Given the description of an element on the screen output the (x, y) to click on. 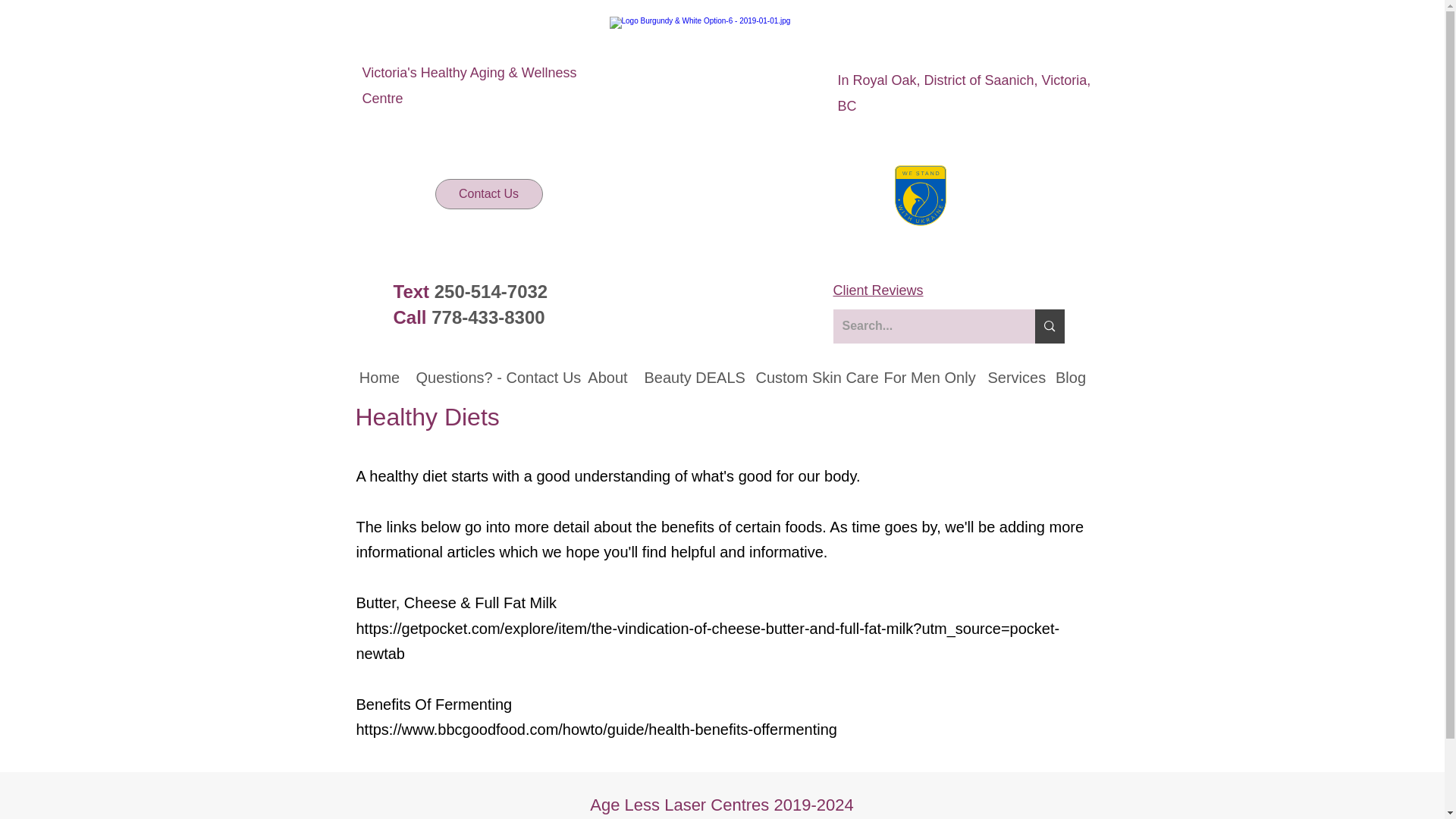
Home (378, 377)
Client Reviews (877, 290)
Services (1012, 377)
Contact Us (489, 194)
About (608, 377)
Questions? - Contact Us (492, 377)
Custom Skin Care (812, 377)
Beauty DEALS (692, 377)
Blog (1071, 377)
For Men Only (927, 377)
